Given the description of an element on the screen output the (x, y) to click on. 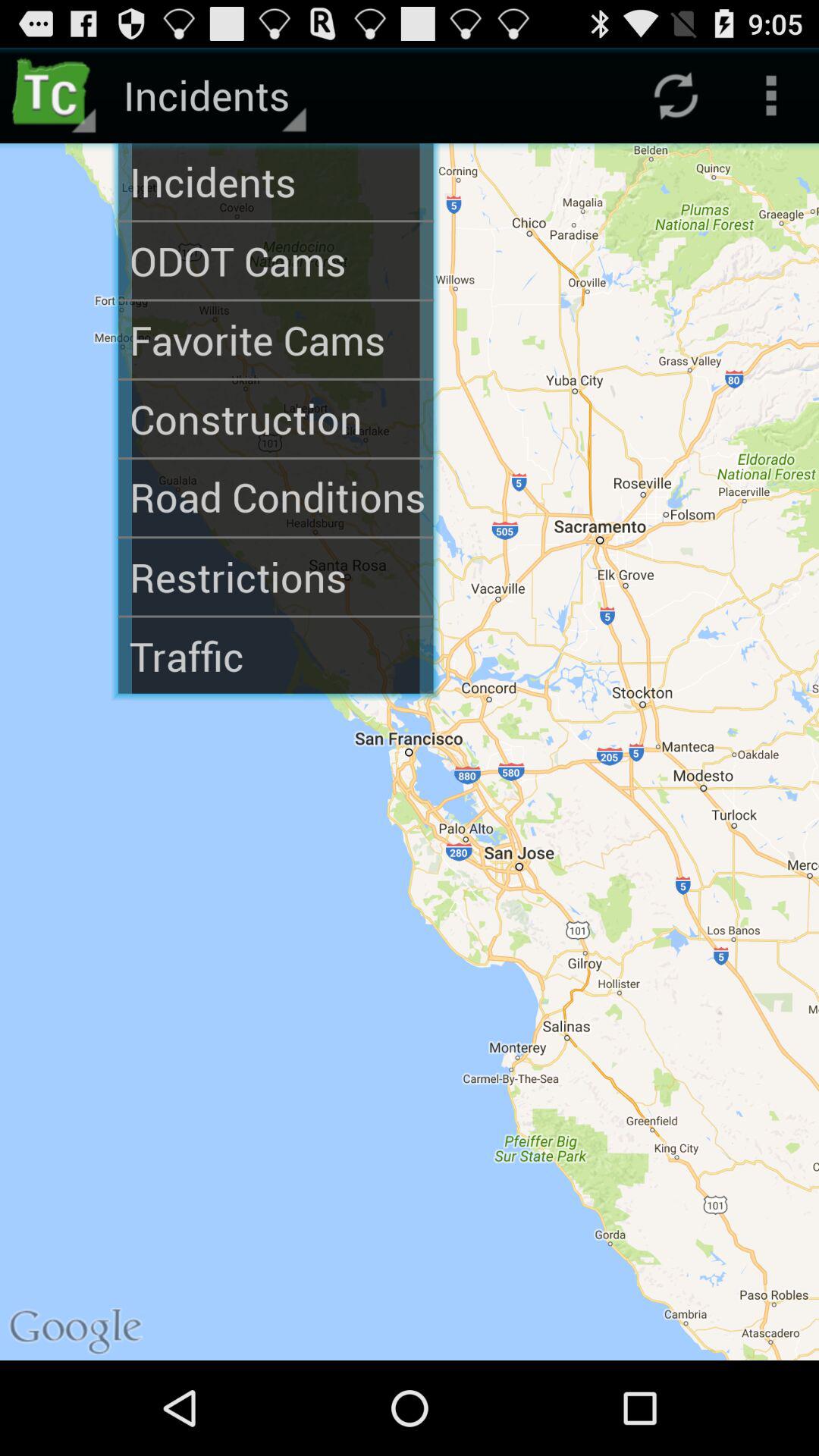
swipe to road conditions icon (275, 497)
